Given the description of an element on the screen output the (x, y) to click on. 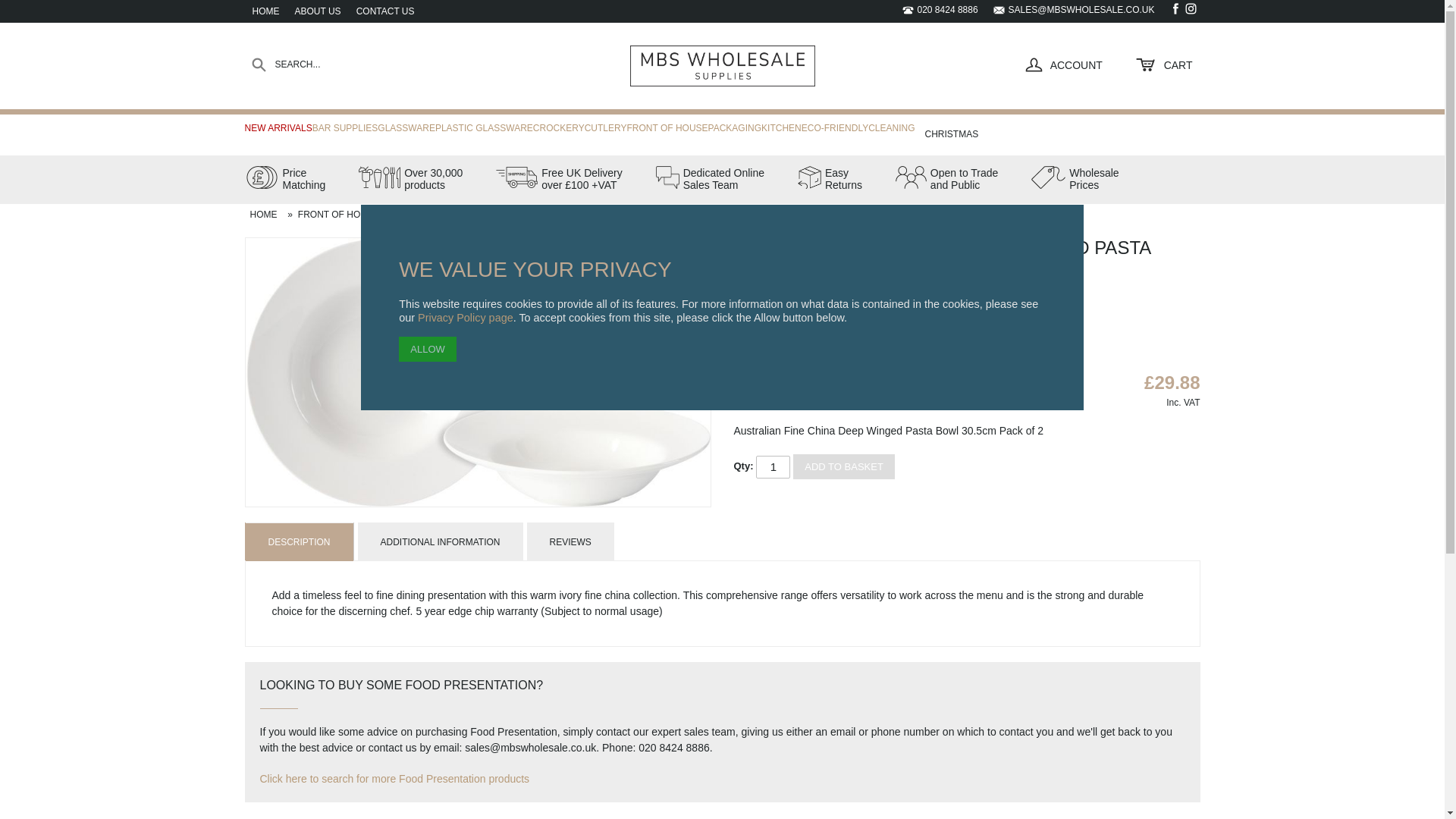
Contact MBS Wholesale Supplies Ltd (385, 11)
CUTLERY (606, 124)
KITCHEN (284, 184)
Information about MBS Wholesale Supplies Ltd (829, 184)
020 8424 8886 (781, 124)
Call MBS Wholesale Supplies (1074, 184)
Over 30,000 products (316, 11)
